Given the description of an element on the screen output the (x, y) to click on. 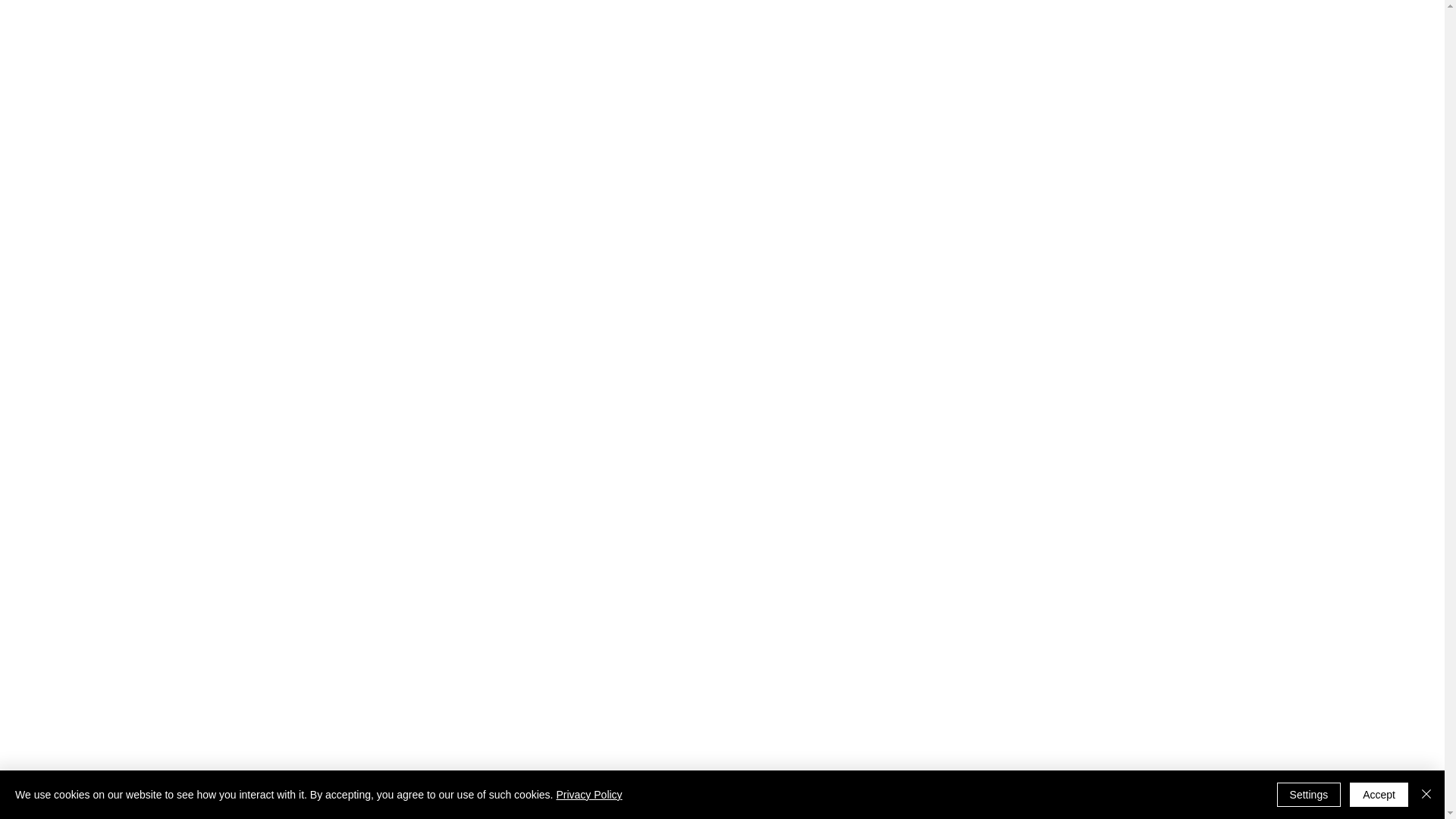
Accept (1378, 794)
Privacy Policy (588, 794)
Settings (1308, 794)
